Given the description of an element on the screen output the (x, y) to click on. 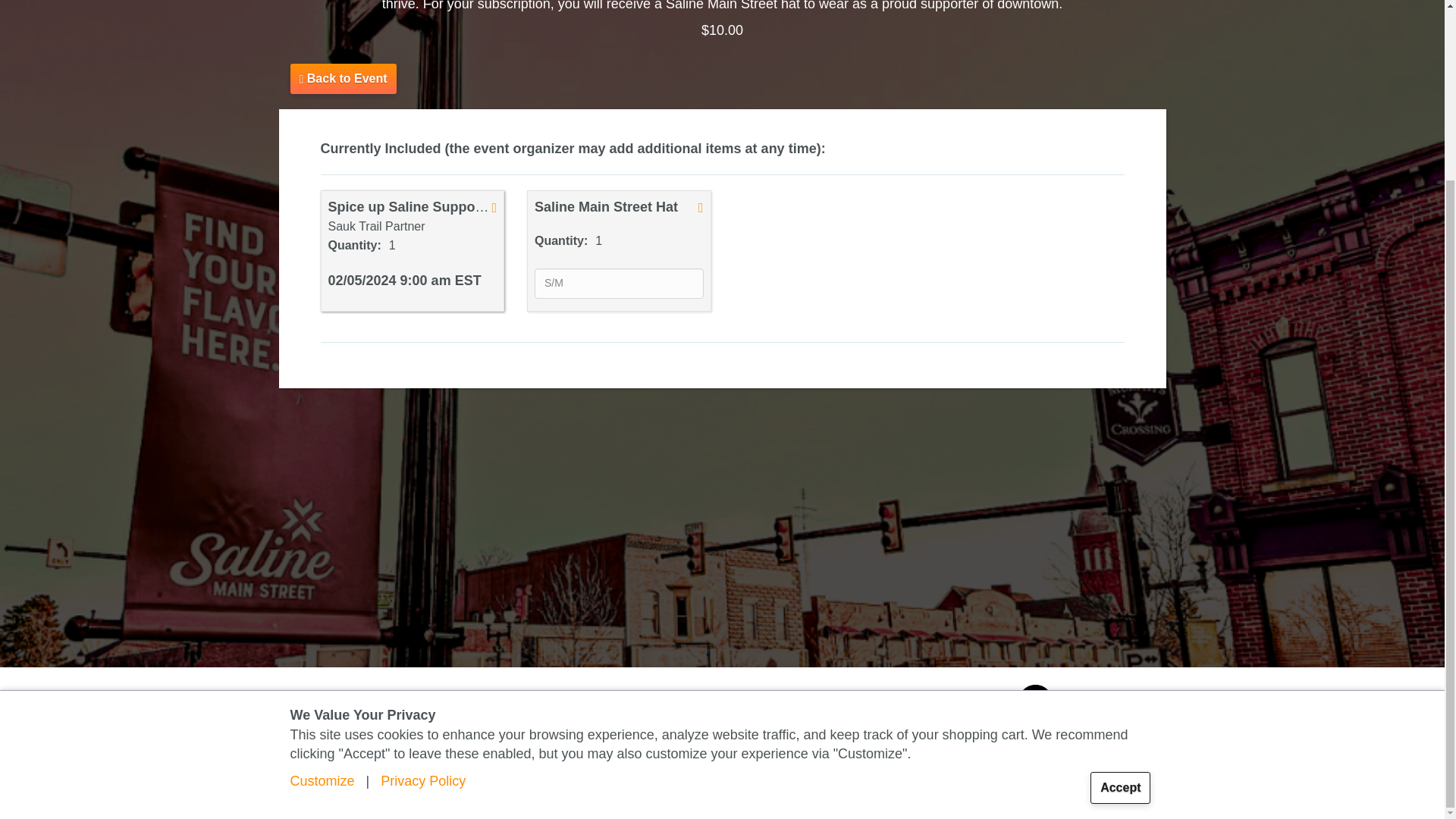
Privacy Policy (422, 560)
TERMS AND CONDITIONS (390, 704)
EVENTS (309, 780)
Customize (321, 560)
Accept (1120, 567)
PRIVACY (485, 704)
Passage, Inc. (888, 704)
BLOG (303, 704)
Back to Event (342, 77)
CONTACT (542, 704)
